Given the description of an element on the screen output the (x, y) to click on. 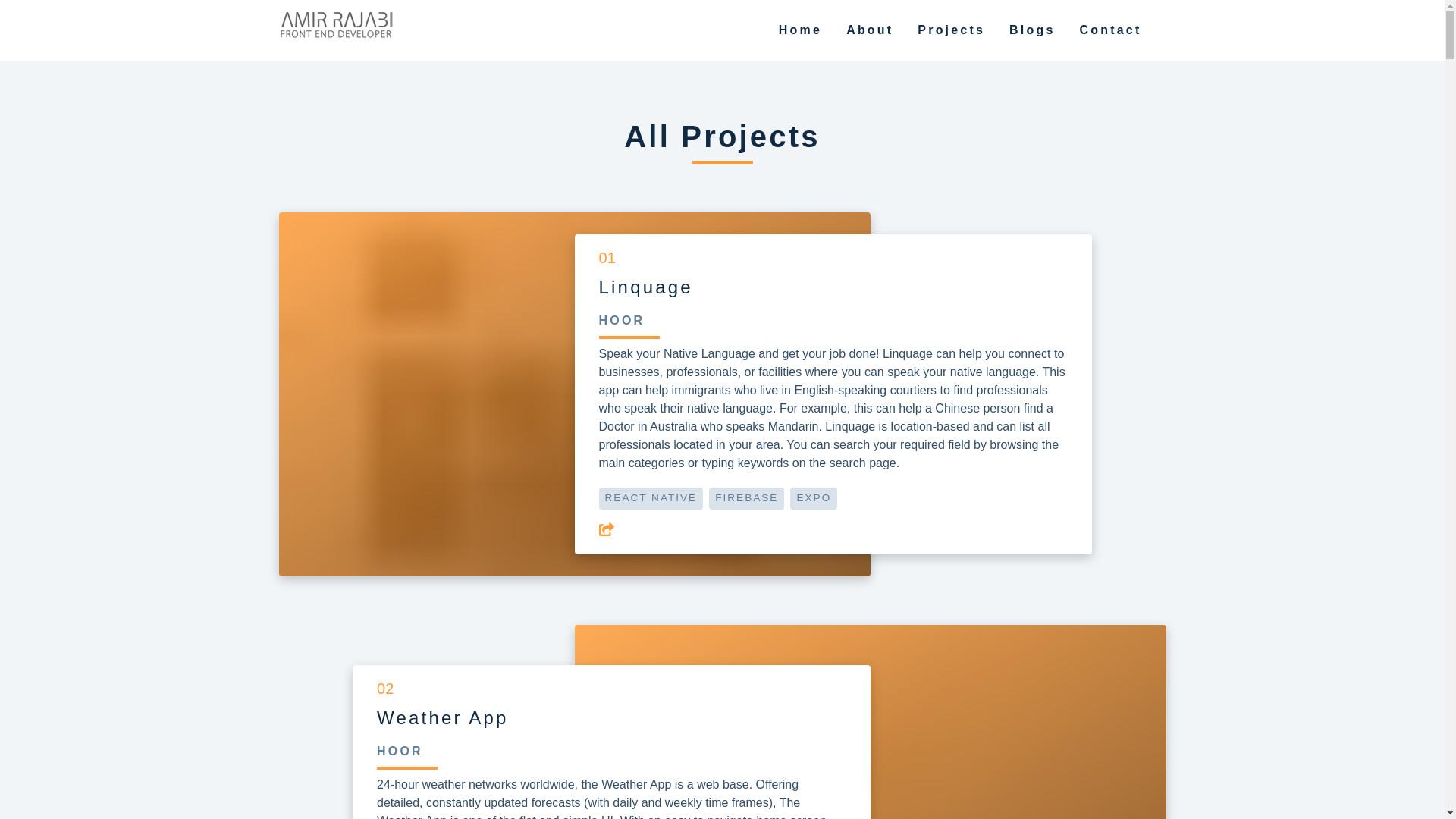
Contact (1110, 29)
Blogs (1031, 29)
Projects (951, 29)
Home (800, 29)
About (869, 29)
